Given the description of an element on the screen output the (x, y) to click on. 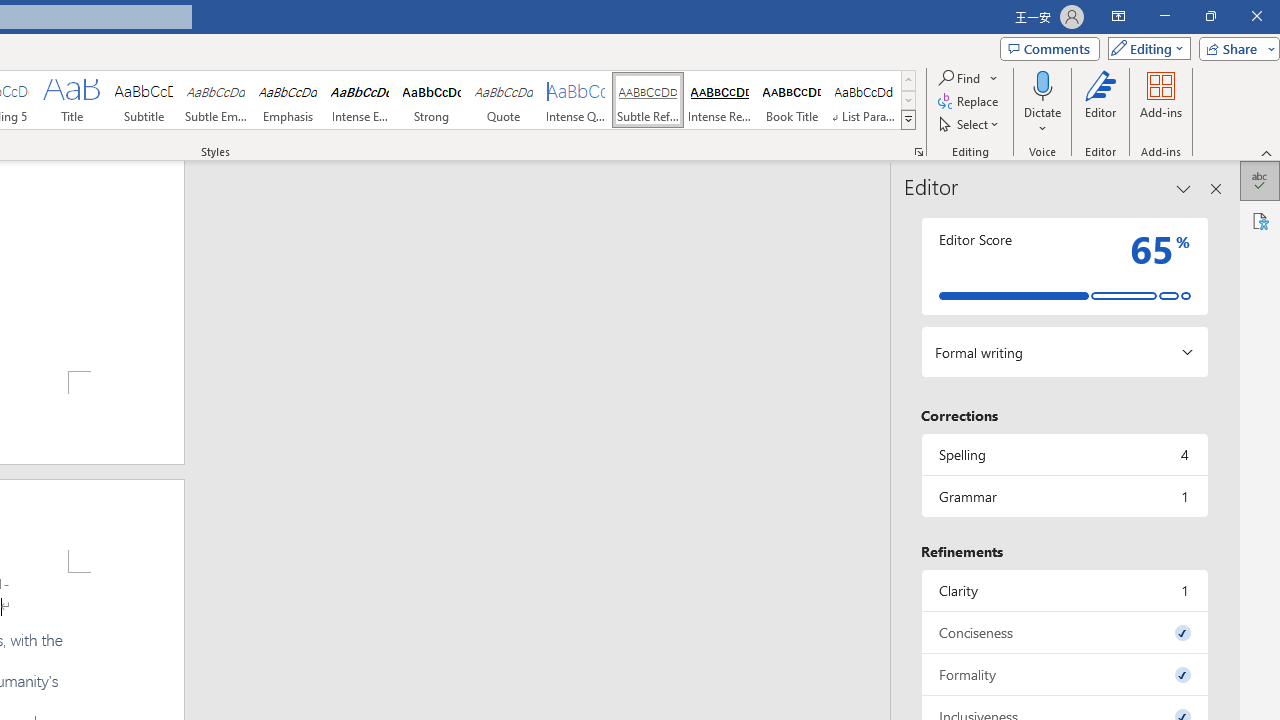
Subtle Reference (647, 100)
Book Title (792, 100)
Grammar, 1 issue. Press space or enter to review items. (1064, 495)
Quote (504, 100)
Row up (908, 79)
Intense Emphasis (359, 100)
Accessibility (1260, 220)
Replace... (969, 101)
Select (970, 124)
